Given the description of an element on the screen output the (x, y) to click on. 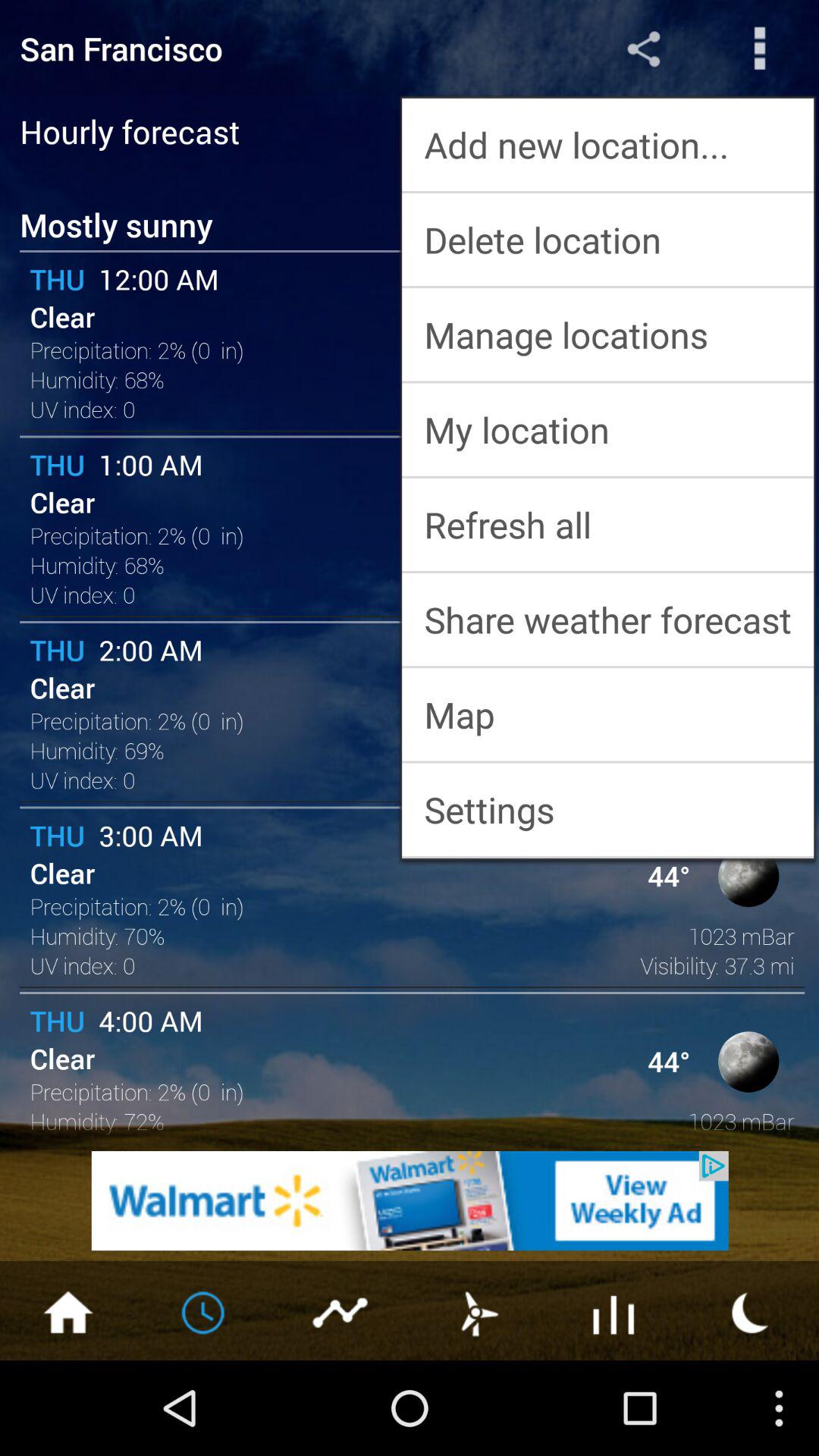
flip to map app (607, 714)
